Given the description of an element on the screen output the (x, y) to click on. 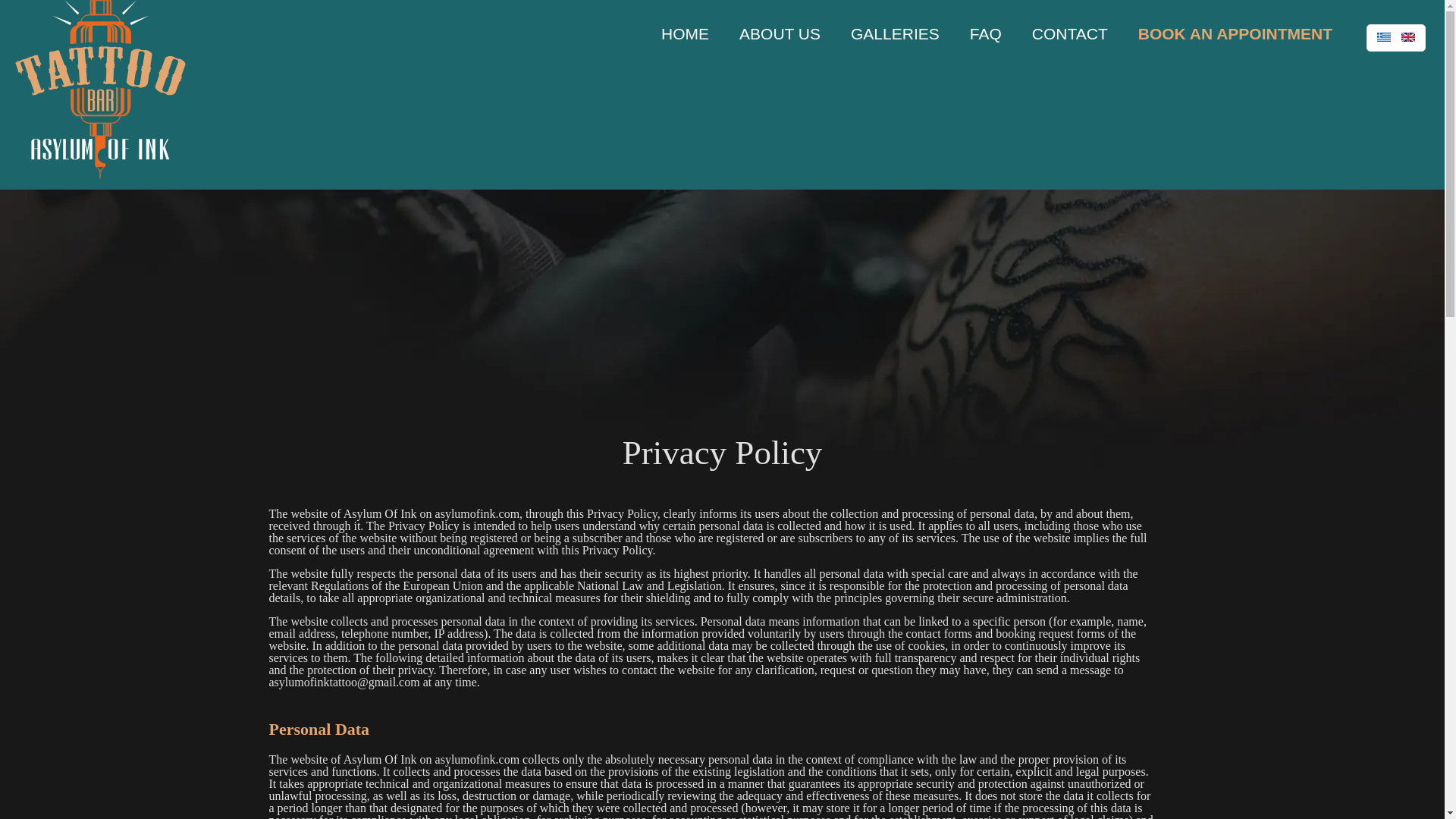
FAQ (985, 33)
Asylum Of Ink - Tattoo Studio Zakynthos (100, 89)
GALLERIES (895, 33)
BOOK AN APPOINTMENT (1235, 33)
HOME (684, 33)
CONTACT (1069, 33)
ABOUT US (779, 33)
